Given the description of an element on the screen output the (x, y) to click on. 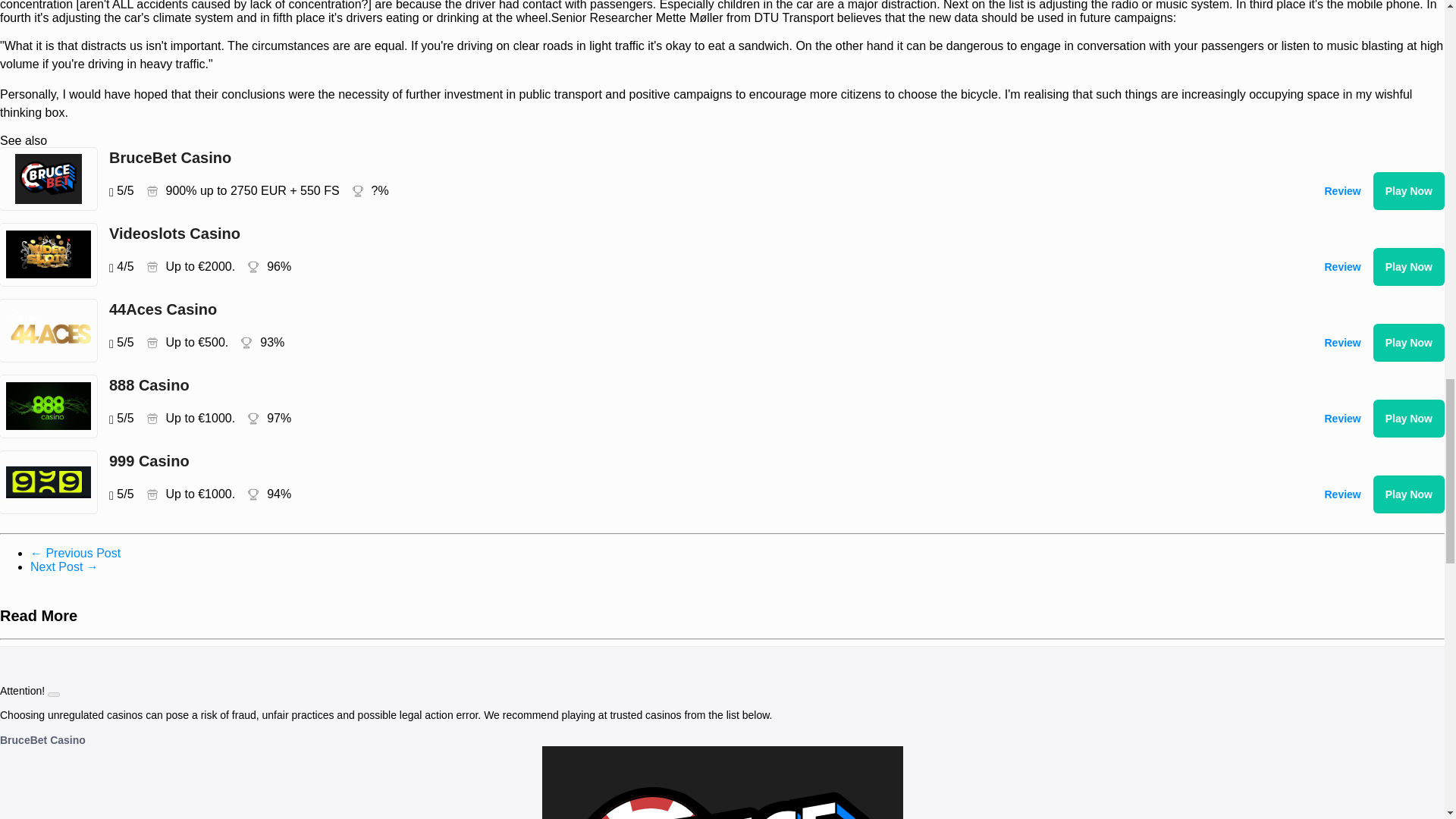
888 Casino (681, 384)
Review (1342, 418)
Review (1342, 342)
Clear Passage (75, 553)
Aarhus - Bicycle City (64, 566)
999 Casino (681, 460)
Review (1342, 266)
Videoslots Casino (681, 233)
BruceBet Casino (681, 157)
BruceBet Casino (42, 739)
44Aces Casino (681, 309)
Review (1342, 494)
Review (1342, 190)
